Given the description of an element on the screen output the (x, y) to click on. 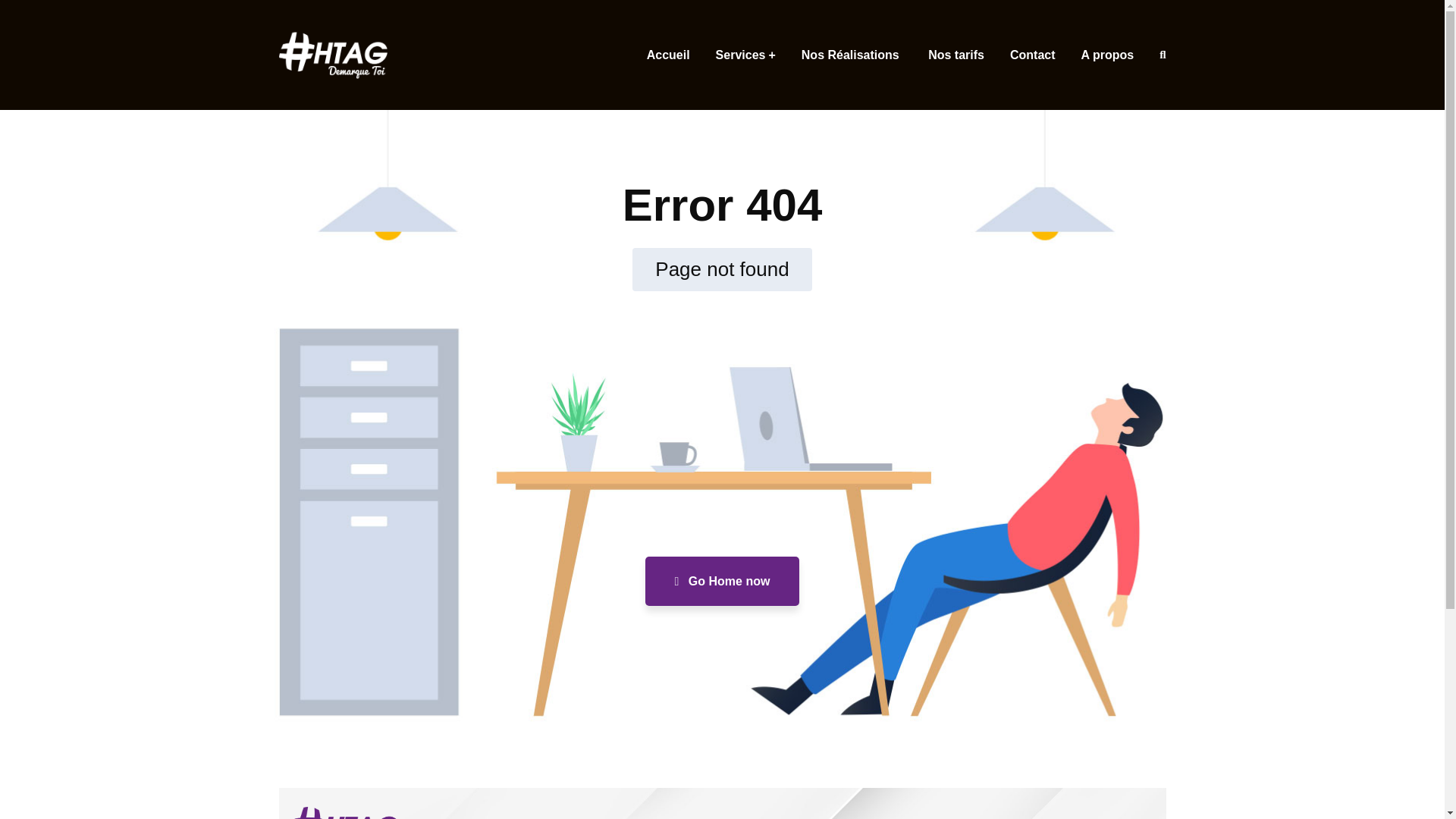
htag.cm (333, 54)
Go Home now (722, 581)
